Given the description of an element on the screen output the (x, y) to click on. 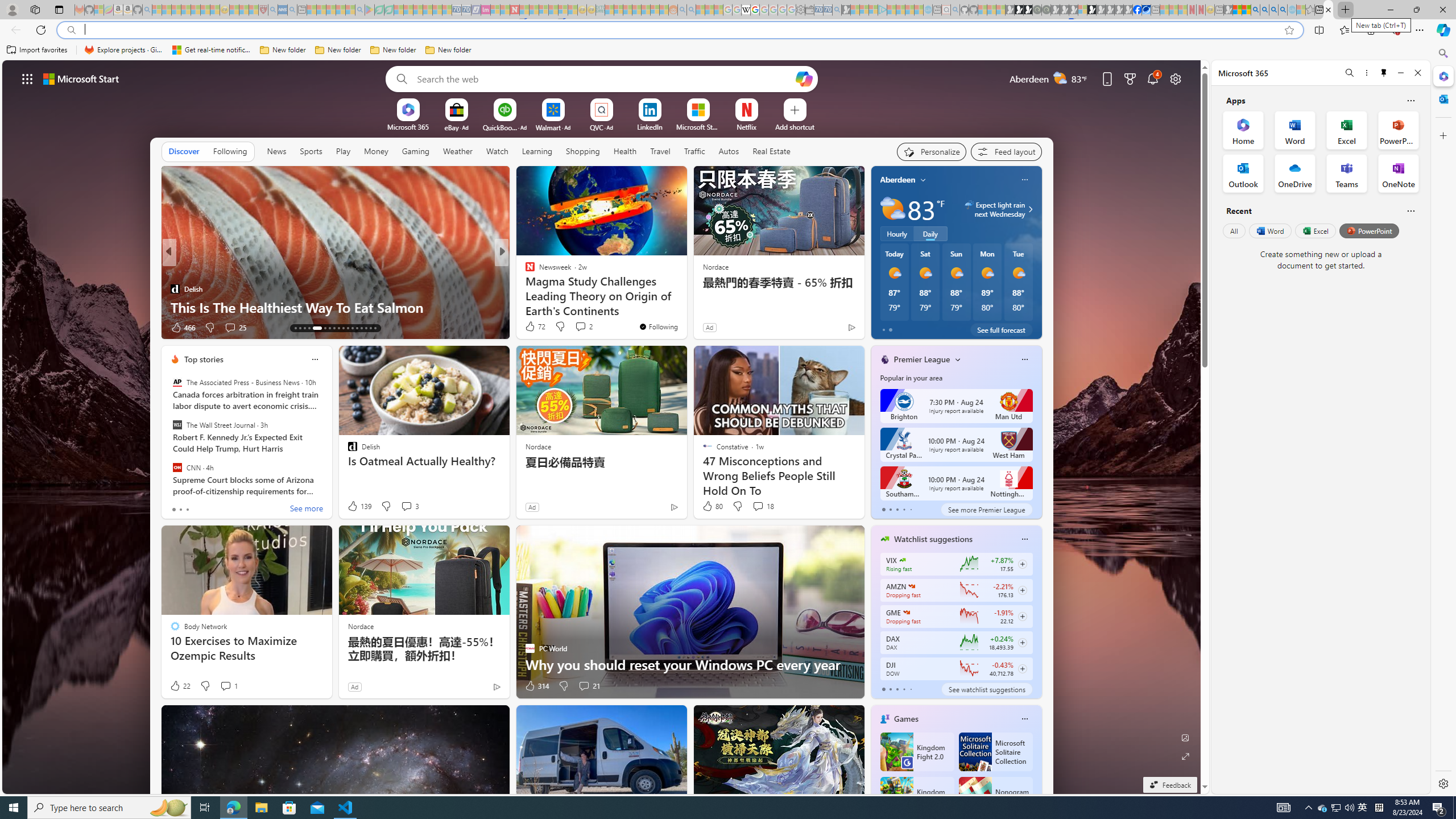
11 Healthy Seeds You Should Be Including in Your Diet (684, 298)
AutomationID: tab-20 (333, 328)
Discover (183, 151)
See more (306, 509)
Shopping (583, 151)
See watchlist suggestions (986, 689)
AutomationID: tab-16 (309, 328)
Real Estate (771, 151)
3 Like (529, 327)
Word Office App (1295, 129)
Nordace (360, 625)
Learning (537, 151)
